Given the description of an element on the screen output the (x, y) to click on. 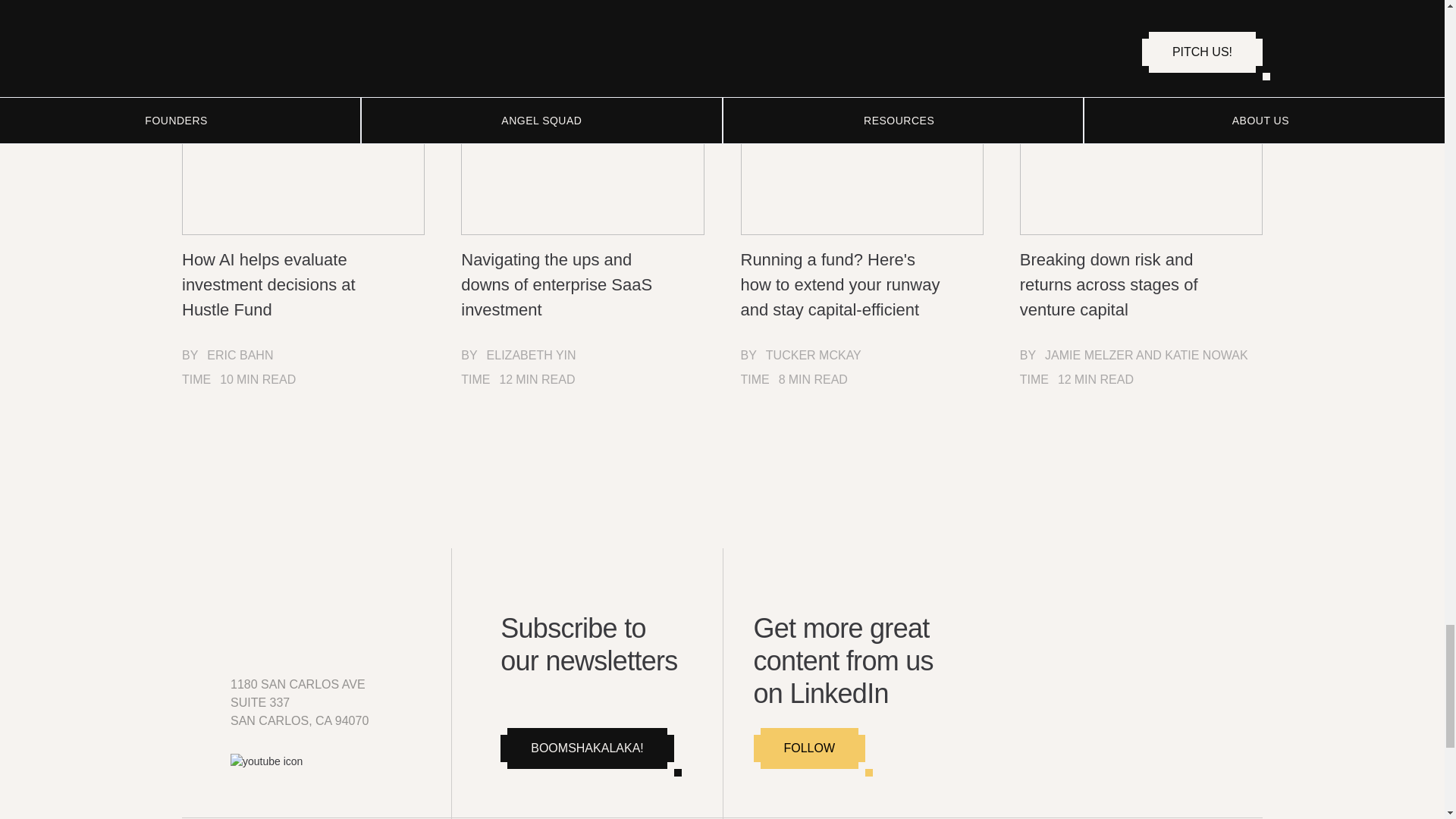
COMPLICATED CONCEPTS (612, 29)
FOLLOW (810, 748)
BOOMSHAKALAKA! (587, 748)
